Given the description of an element on the screen output the (x, y) to click on. 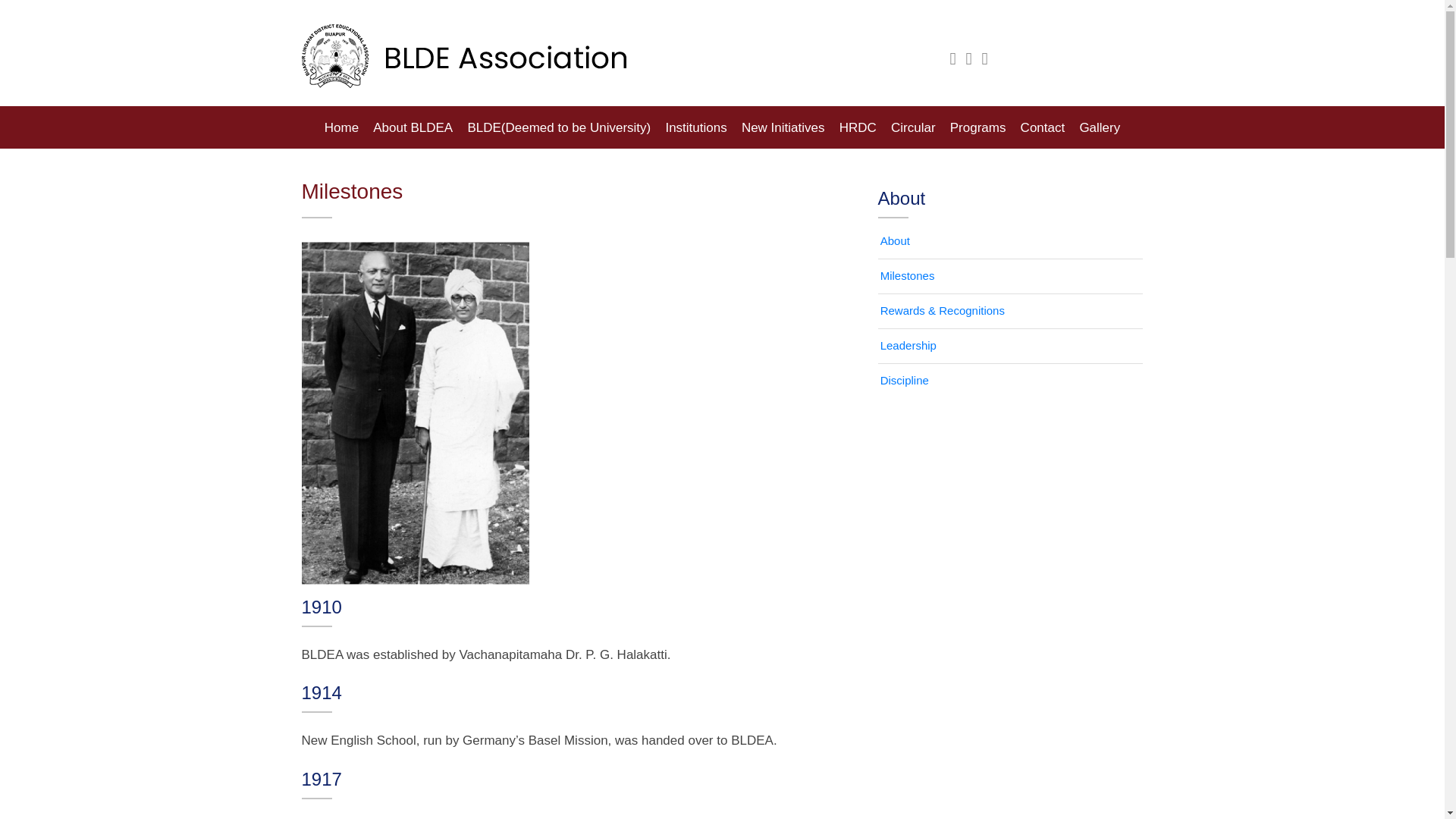
Institutions (695, 127)
HRDC (857, 127)
Home (341, 127)
About BLDEA (413, 127)
New Initiatives (782, 127)
